Given the description of an element on the screen output the (x, y) to click on. 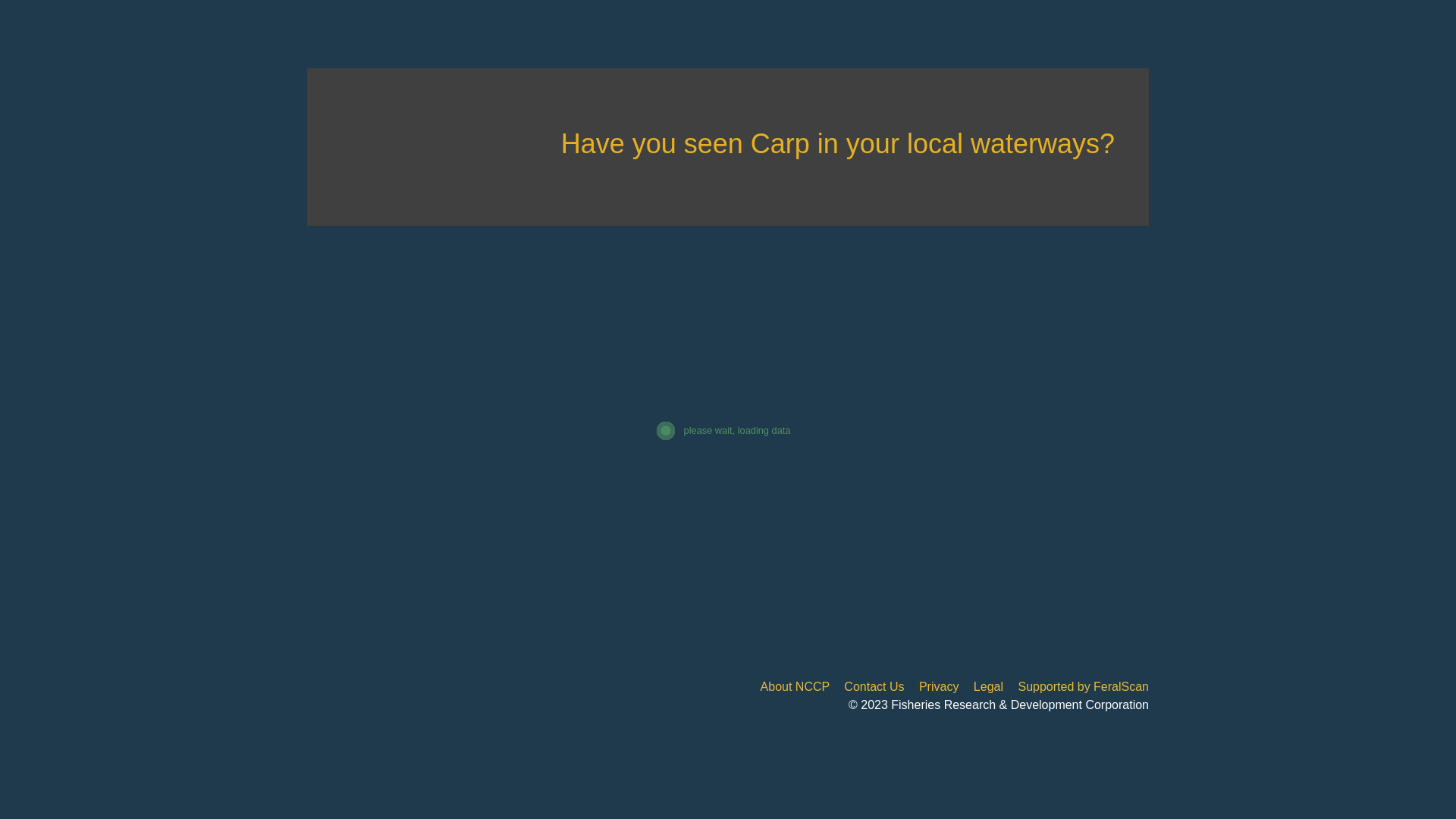
About NCCP Element type: text (794, 686)
Supported by FeralScan Element type: text (1082, 686)
Legal Element type: text (988, 686)
Contact Us Element type: text (873, 686)
Privacy Element type: text (938, 686)
